Given the description of an element on the screen output the (x, y) to click on. 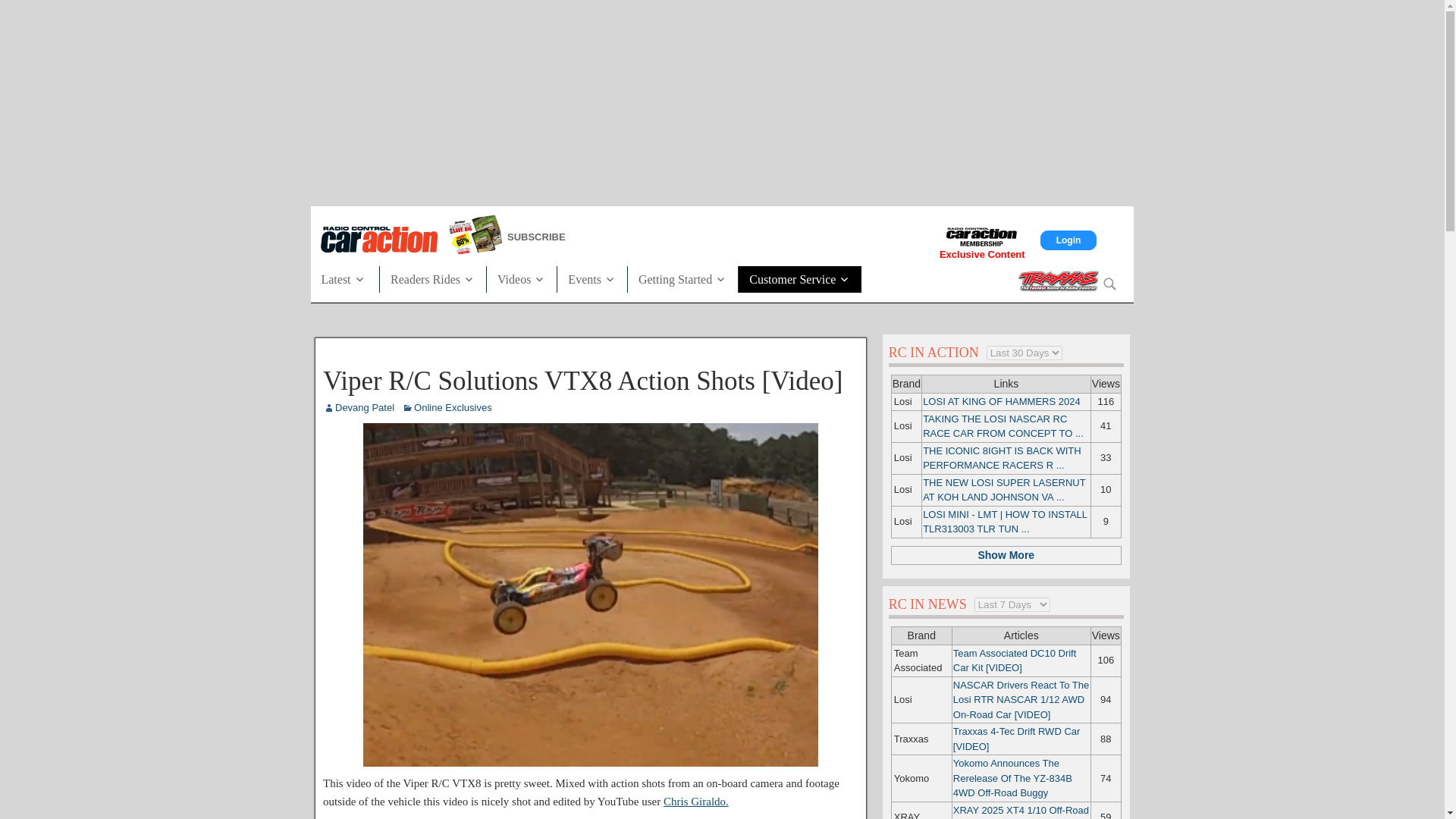
Readers Rides (433, 278)
Latest (348, 278)
YouTube Channel (696, 801)
Login (1069, 240)
LOSI AT KING OF HAMMERS 2024 (1001, 401)
SUBSCRIBE (597, 236)
3rd party ad content (721, 100)
Videos (521, 278)
